Given the description of an element on the screen output the (x, y) to click on. 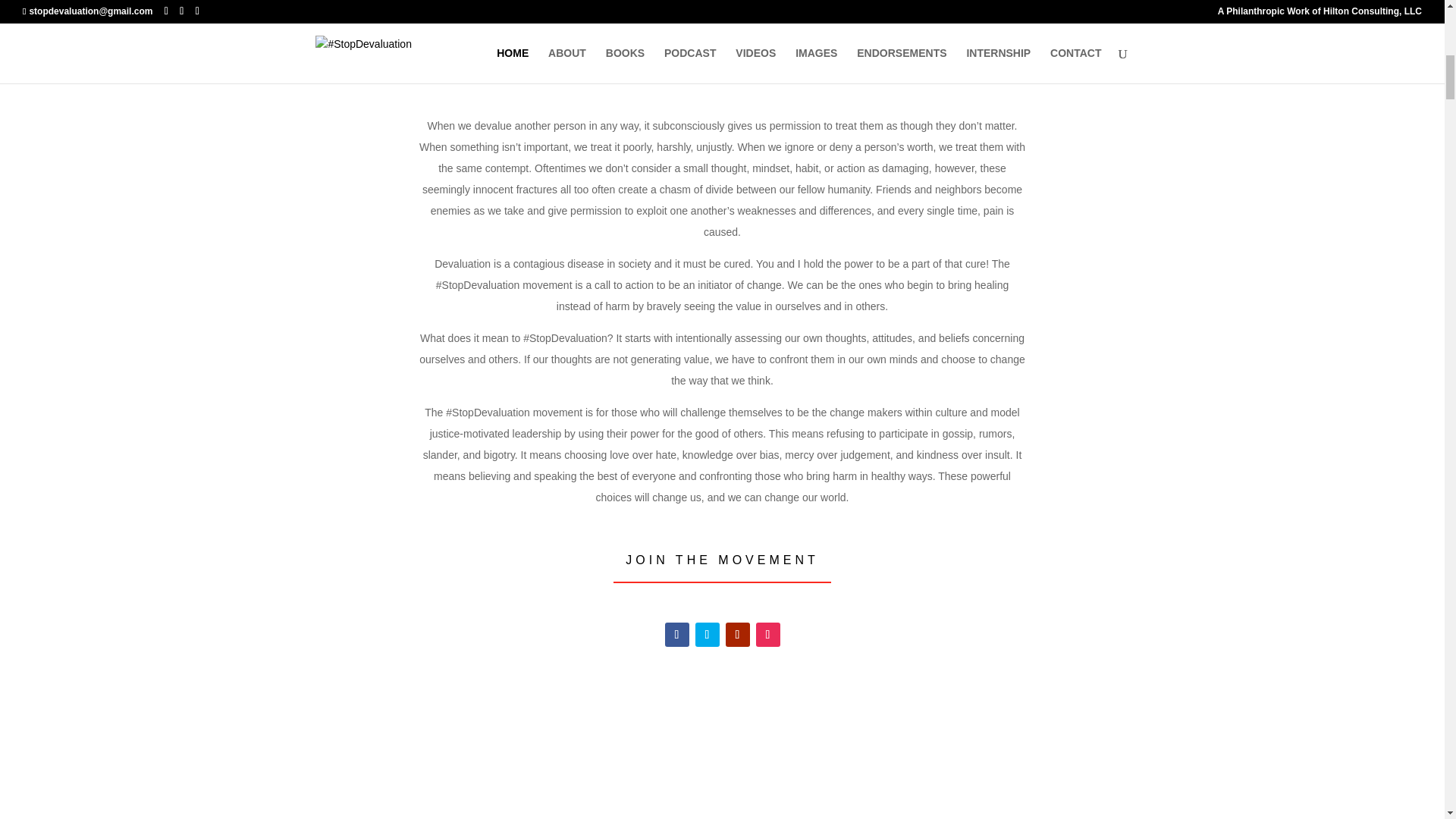
JOIN THE MOVEMENT (721, 559)
Follow on Twitter (706, 634)
Follow on Facebook (675, 634)
Follow on Instagram (766, 634)
Follow on Youtube (737, 634)
